Given the description of an element on the screen output the (x, y) to click on. 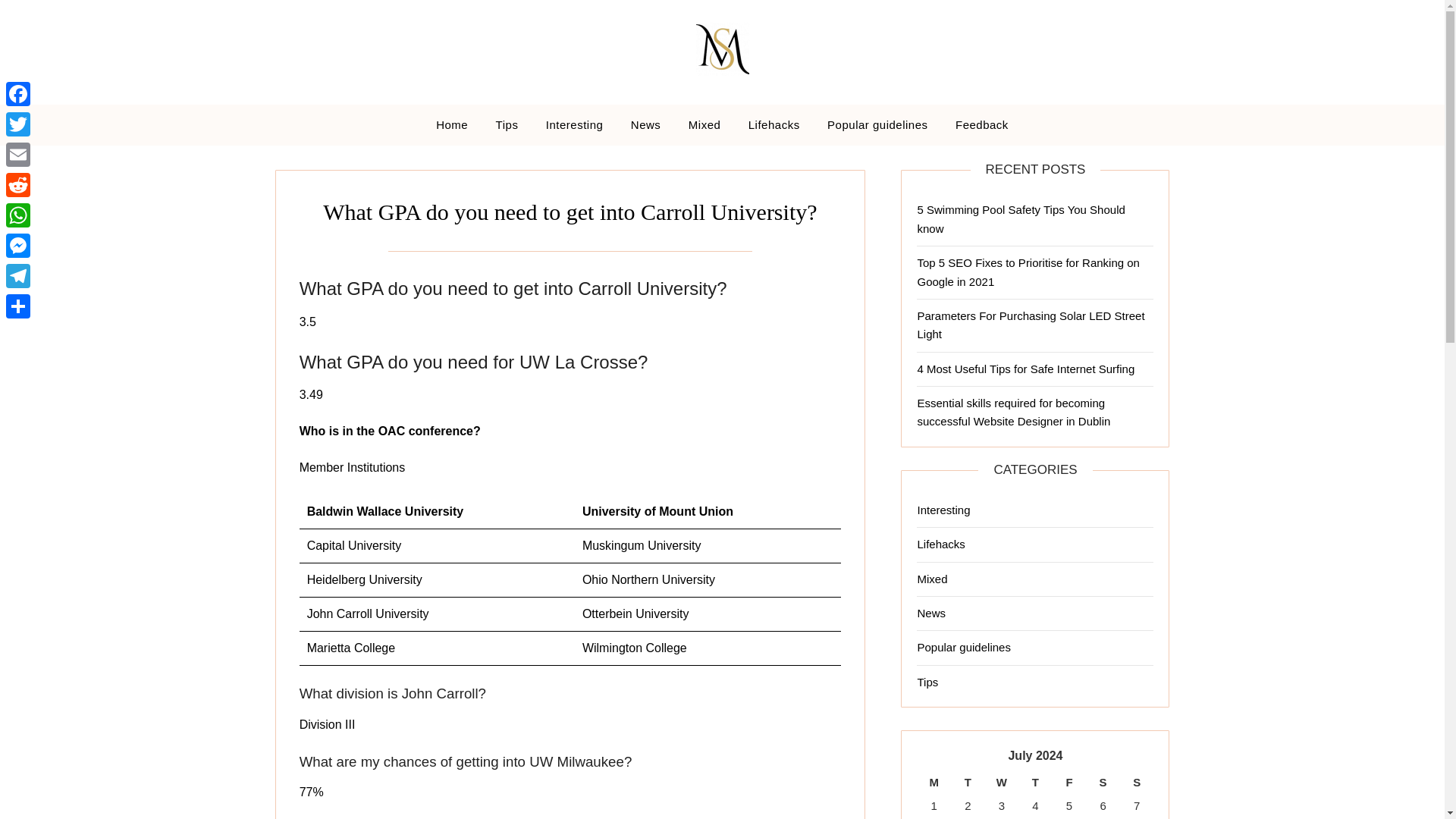
Twitter (17, 123)
Facebook (17, 93)
Messenger (17, 245)
Mixed (705, 124)
Interesting (943, 509)
Mixed (932, 577)
Popular guidelines (963, 646)
News (645, 124)
Wednesday (1002, 782)
Parameters For Purchasing Solar LED Street Light (1030, 324)
Thursday (1034, 782)
Feedback (981, 124)
Reddit (17, 184)
News (930, 612)
